Given the description of an element on the screen output the (x, y) to click on. 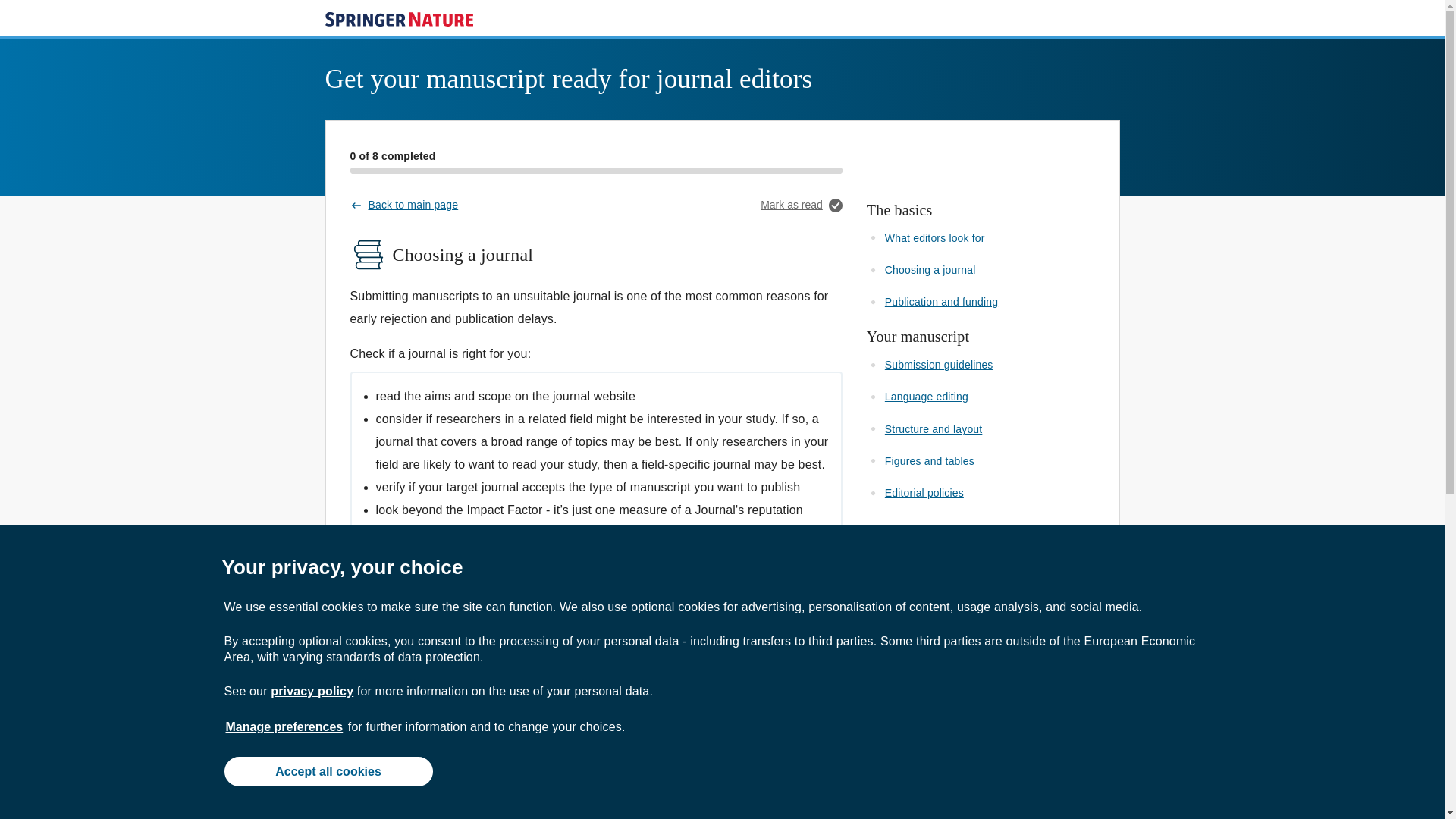
Structure and layout (933, 428)
What editors look for (935, 237)
Back to main page (404, 205)
privacy policy (311, 690)
Language editing (926, 396)
Journal aims and Scope (439, 798)
Submission guidelines (938, 364)
Choosing a journal (930, 269)
Manage preferences (284, 726)
Publication and funding (941, 301)
Journal Suggester (534, 676)
Accept all cookies (328, 771)
Mark as read (801, 205)
Figures and tables (929, 460)
Editorial policies (924, 492)
